Given the description of an element on the screen output the (x, y) to click on. 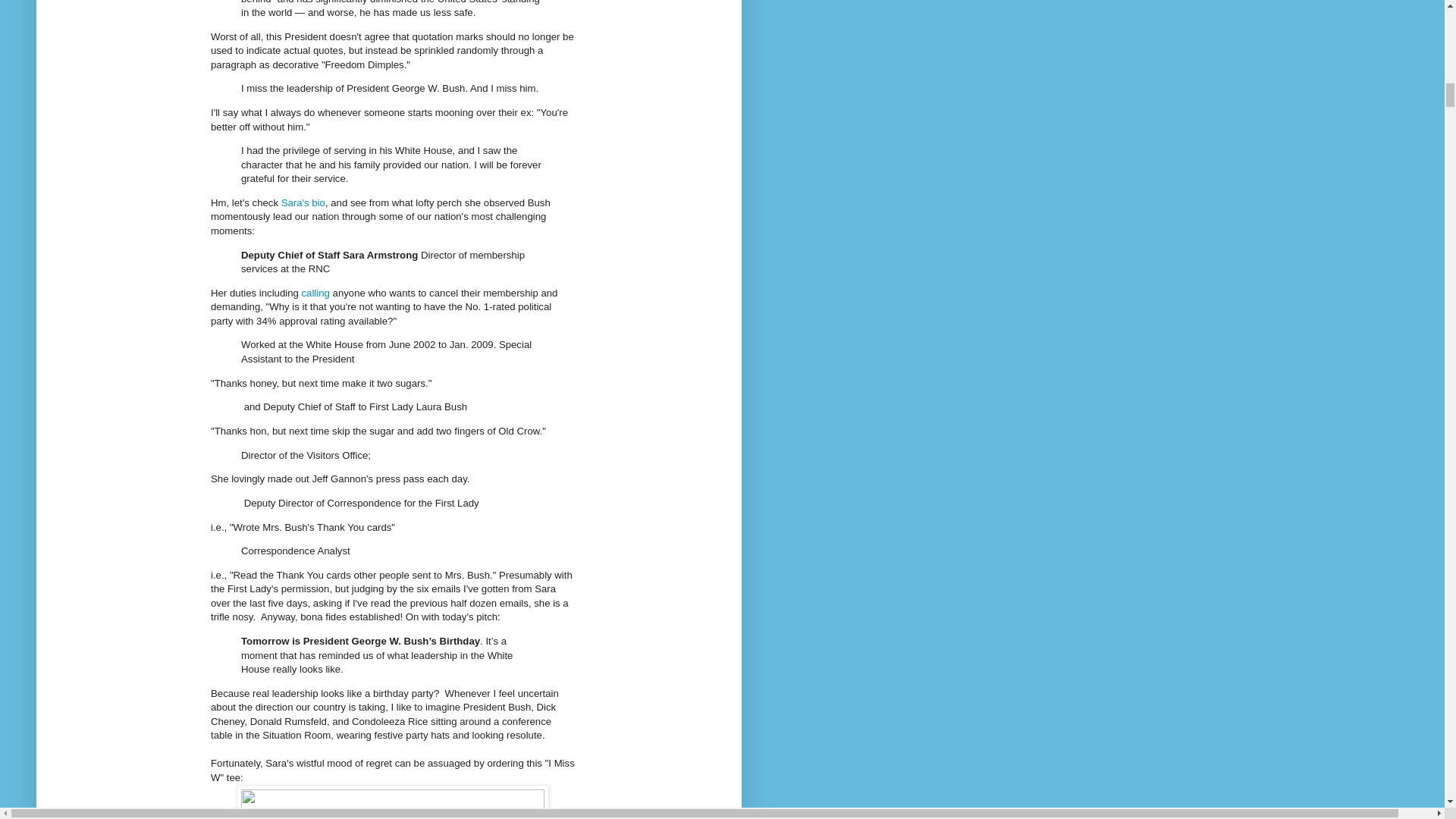
Sara's bio (302, 202)
 calling (314, 292)
